Given the description of an element on the screen output the (x, y) to click on. 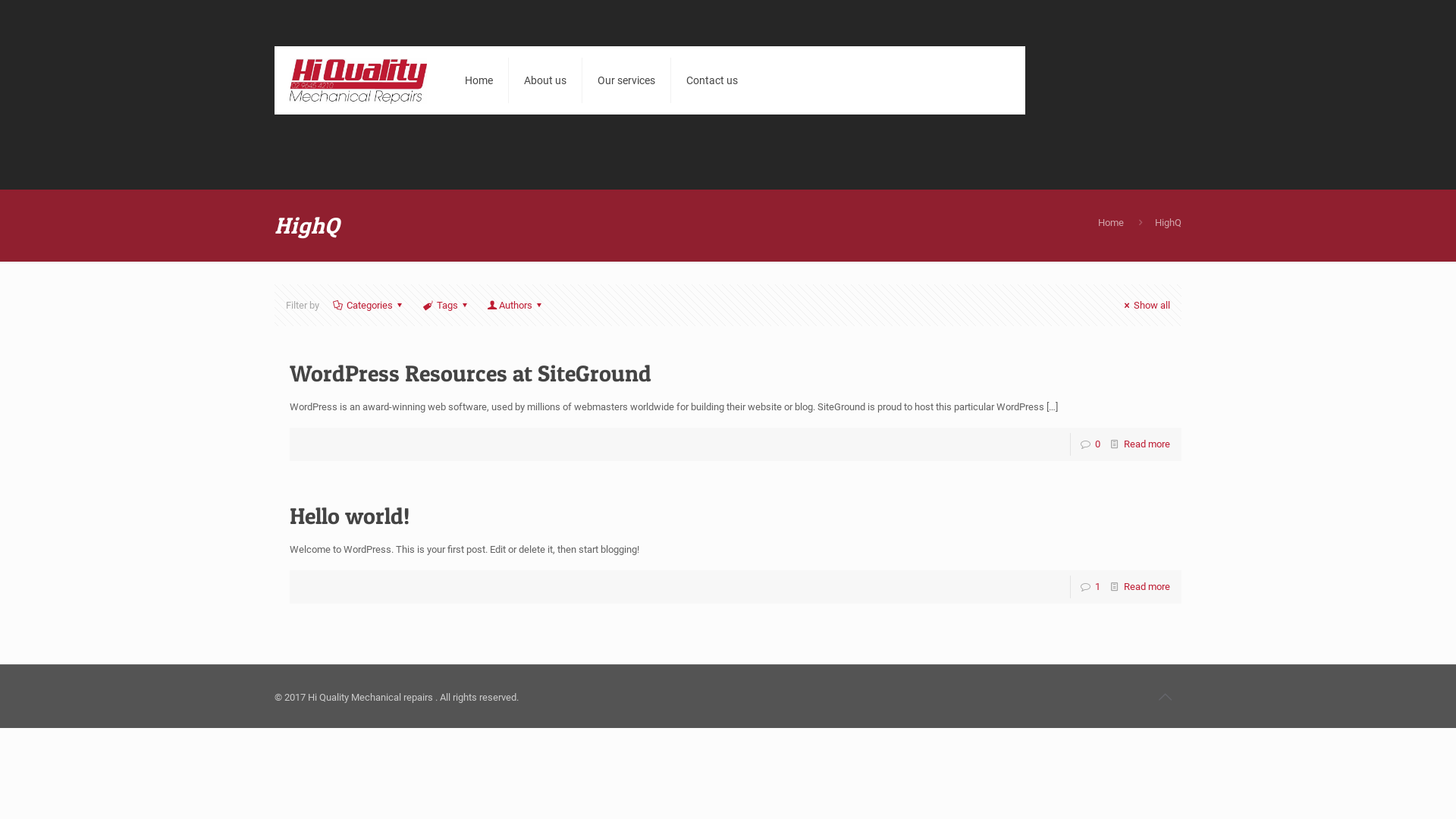
0 Element type: text (1097, 443)
Tags Element type: text (446, 304)
Show all Element type: text (1145, 304)
Home Element type: text (1110, 222)
Categories Element type: text (369, 304)
About us Element type: text (545, 80)
Our services Element type: text (626, 80)
1 Element type: text (1097, 586)
WordPress Resources at SiteGround Element type: text (470, 372)
Hello world! Element type: text (349, 515)
Authors Element type: text (515, 304)
Home Element type: text (478, 80)
Read more Element type: text (1146, 443)
Read more Element type: text (1146, 586)
Contact us Element type: text (712, 80)
